Given the description of an element on the screen output the (x, y) to click on. 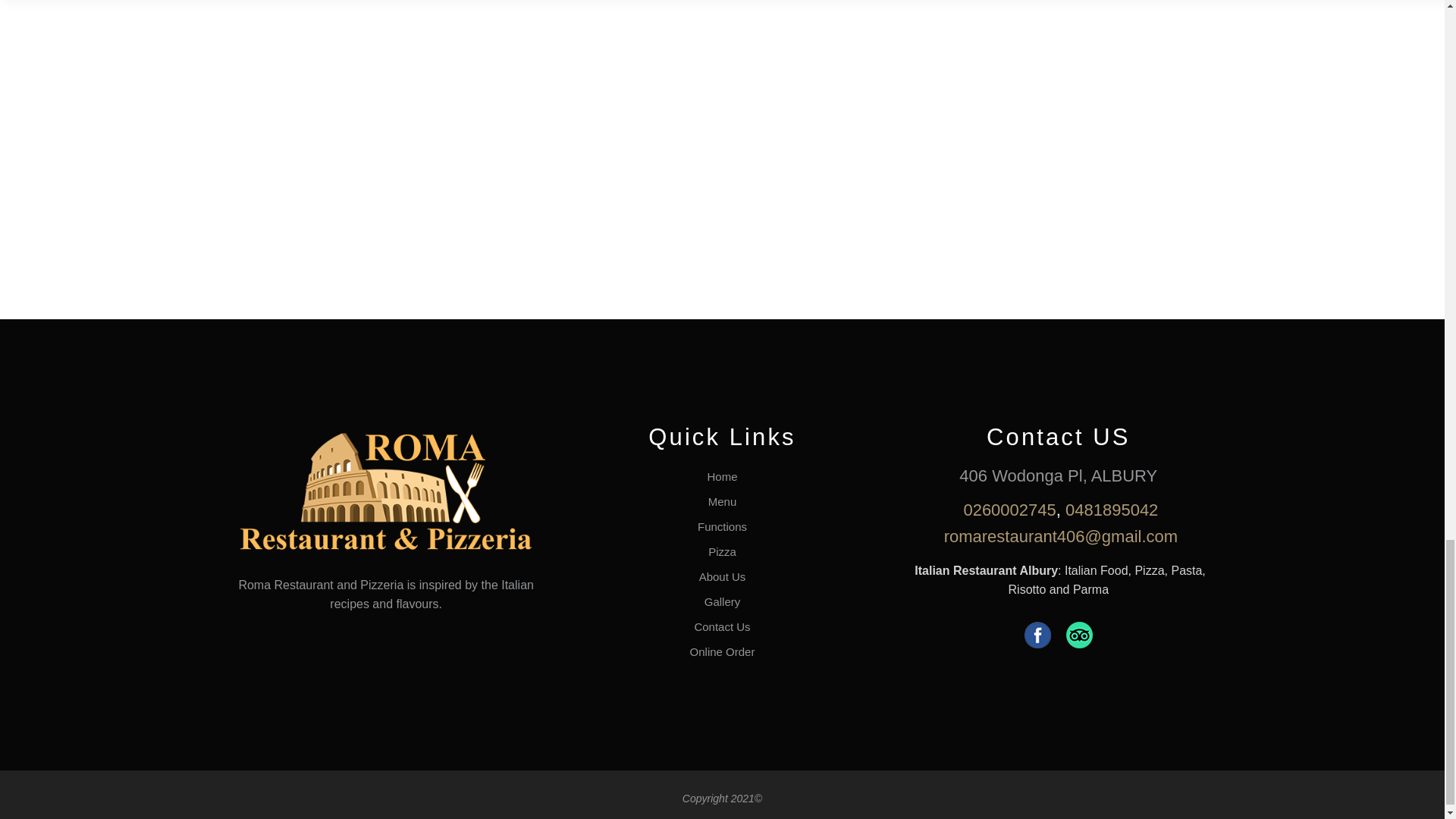
Home (721, 476)
Menu (721, 501)
Functions (721, 526)
